Given the description of an element on the screen output the (x, y) to click on. 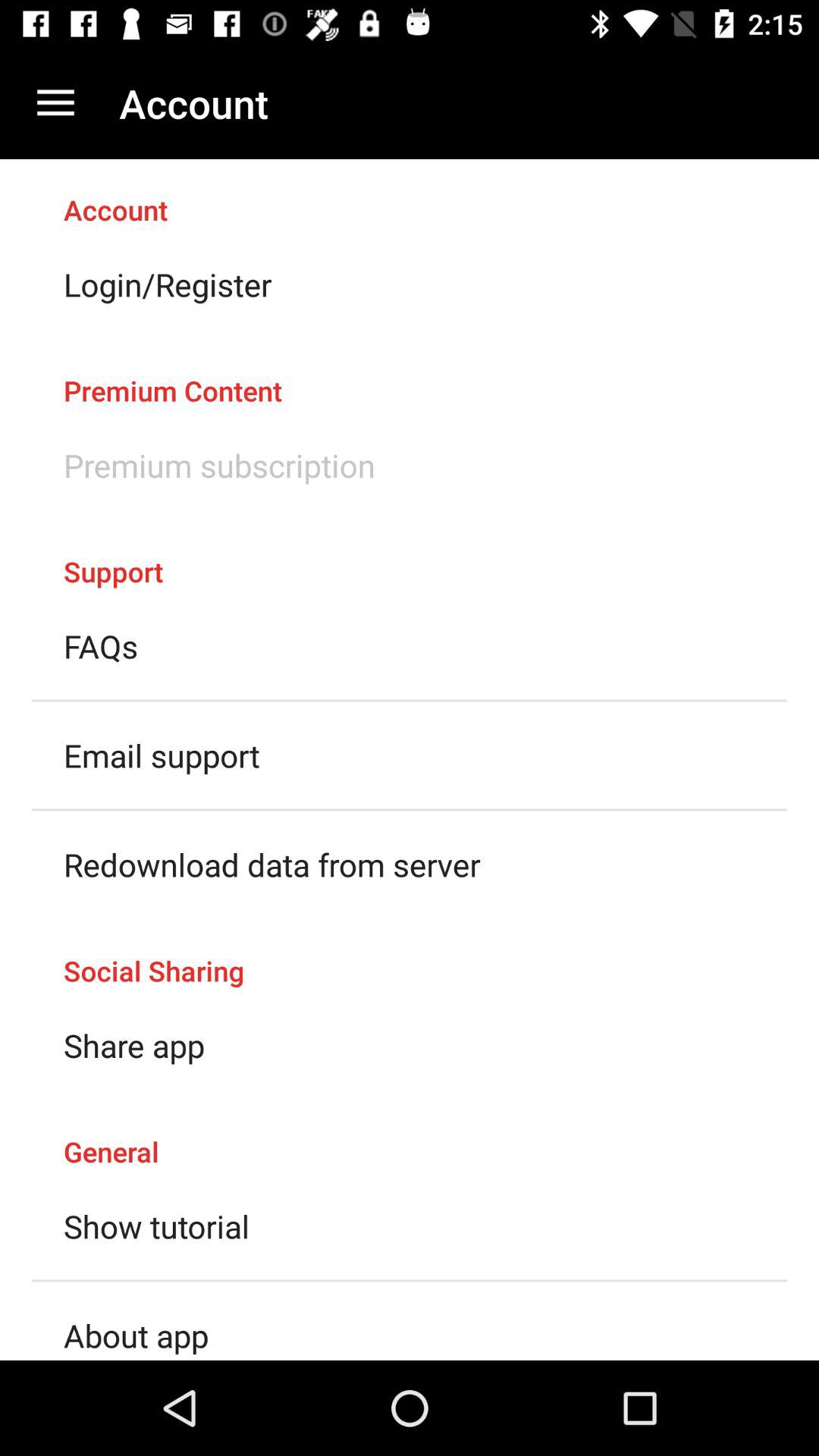
jump to email support icon (161, 754)
